Given the description of an element on the screen output the (x, y) to click on. 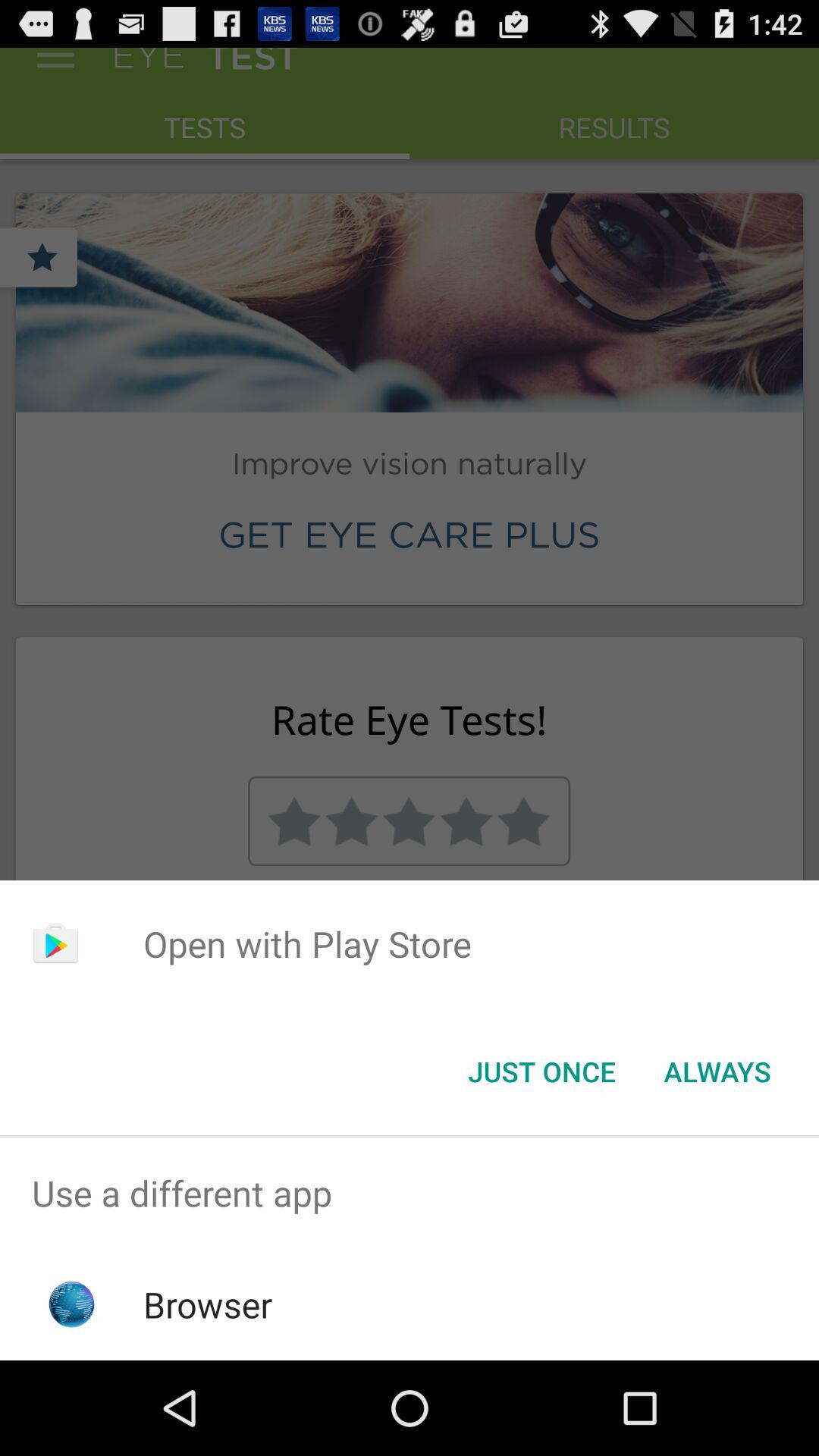
select the just once item (541, 1071)
